Given the description of an element on the screen output the (x, y) to click on. 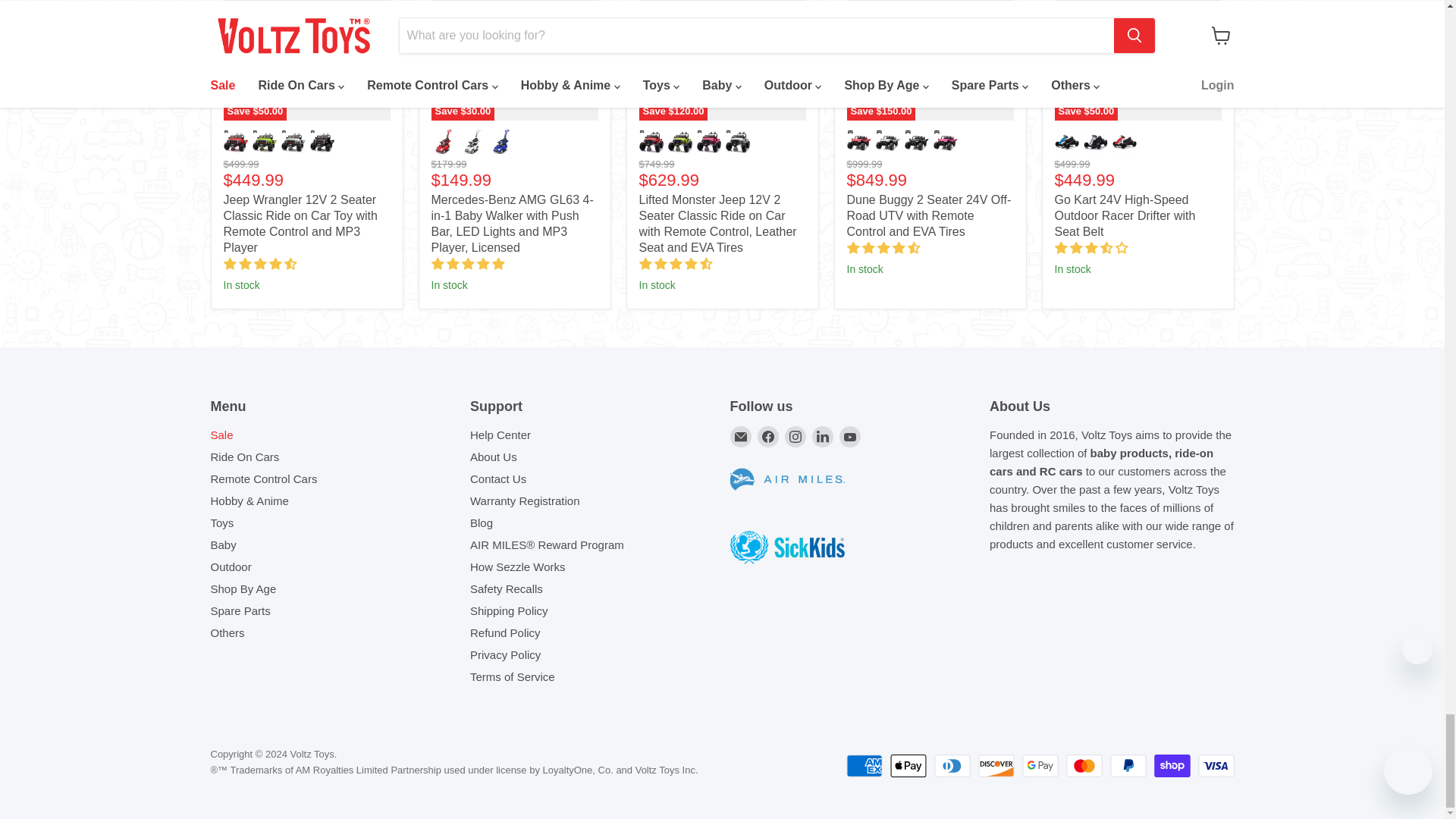
YouTube (849, 436)
Facebook (767, 436)
Instagram (794, 436)
Email (740, 436)
LinkedIn (821, 436)
